Given the description of an element on the screen output the (x, y) to click on. 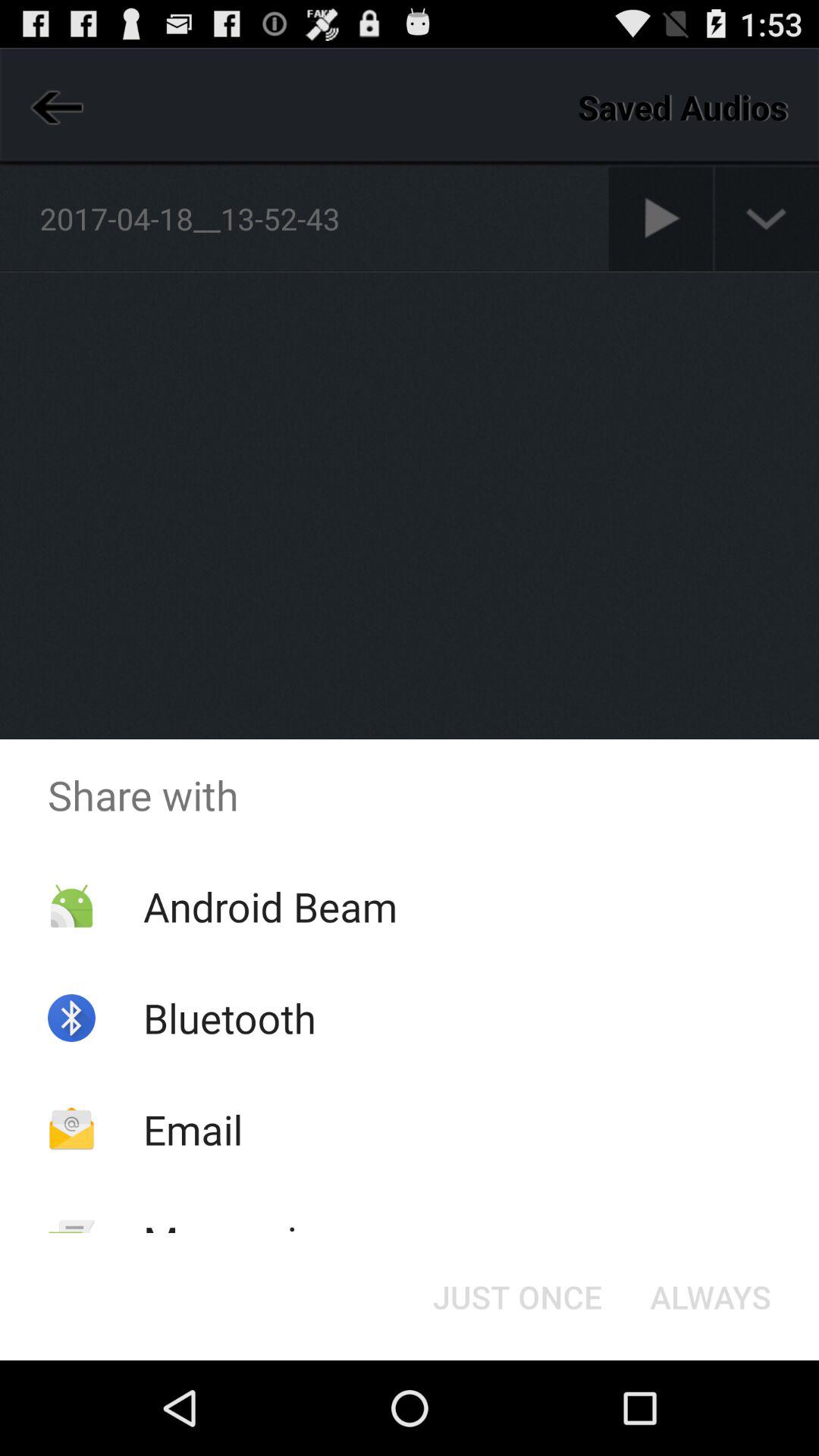
tap item next to always item (517, 1296)
